Given the description of an element on the screen output the (x, y) to click on. 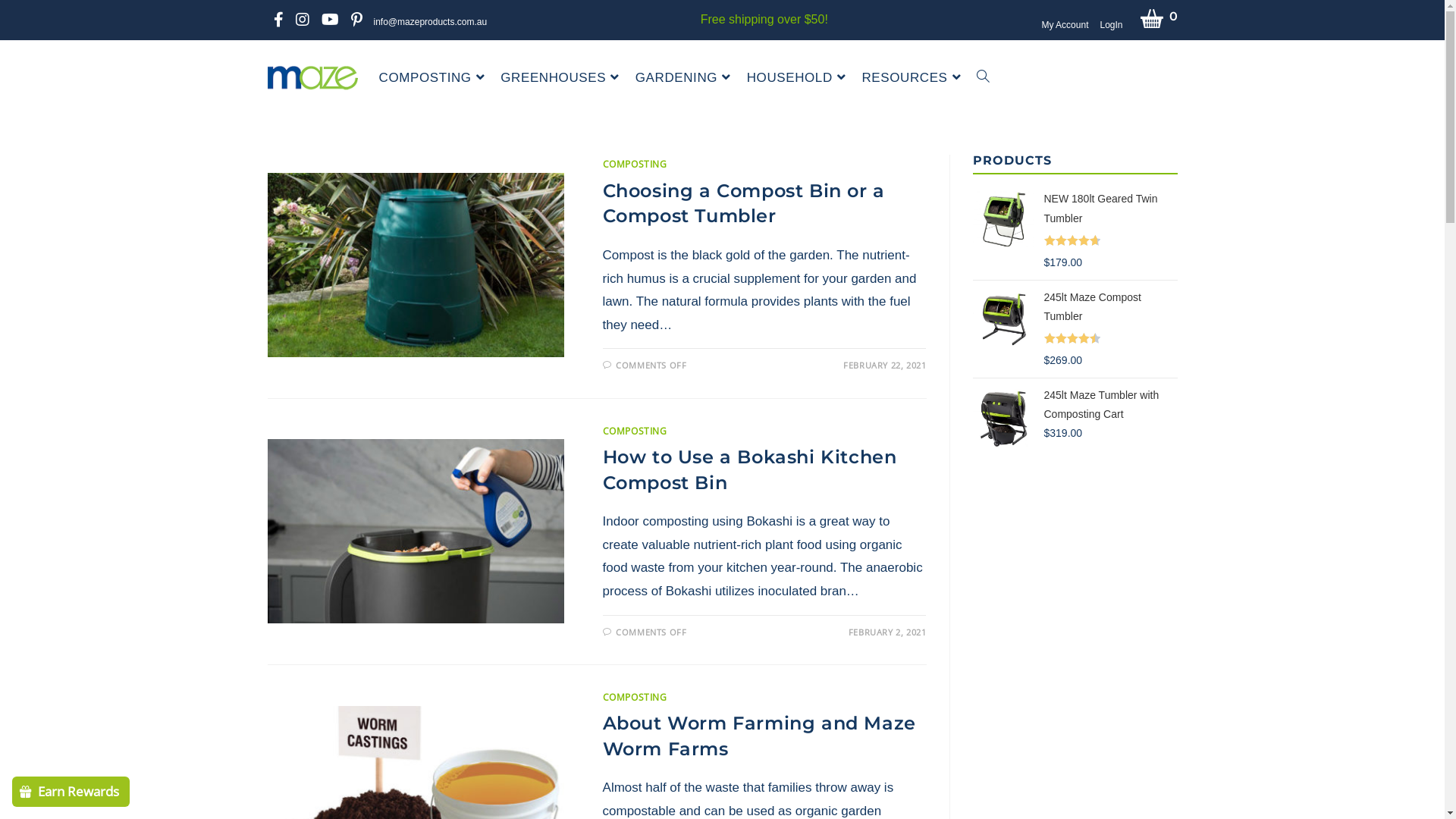
COMPOSTING Element type: text (634, 163)
info@mazeproducts.com.au Element type: text (430, 21)
My Account Element type: text (1064, 25)
RESOURCES Element type: text (912, 78)
COMPOSTING Element type: text (634, 696)
Choosing a Compost Bin or a Compost Tumbler Element type: text (743, 203)
NEW 180lt Geared Twin Tumbler Element type: text (1109, 209)
How to Use a Bokashi Kitchen Compost Bin Element type: text (749, 469)
245lt Maze Tumbler with Composting Cart Element type: text (1109, 414)
About Worm Farming and Maze Worm Farms Element type: text (759, 735)
COMPOSTING Element type: text (634, 430)
GREENHOUSES Element type: text (561, 78)
GARDENING Element type: text (684, 78)
LogIn Element type: text (1110, 25)
245lt Maze Compost Tumbler Element type: text (1109, 308)
HOUSEHOLD Element type: text (798, 78)
COMPOSTING Element type: text (434, 78)
